Given the description of an element on the screen output the (x, y) to click on. 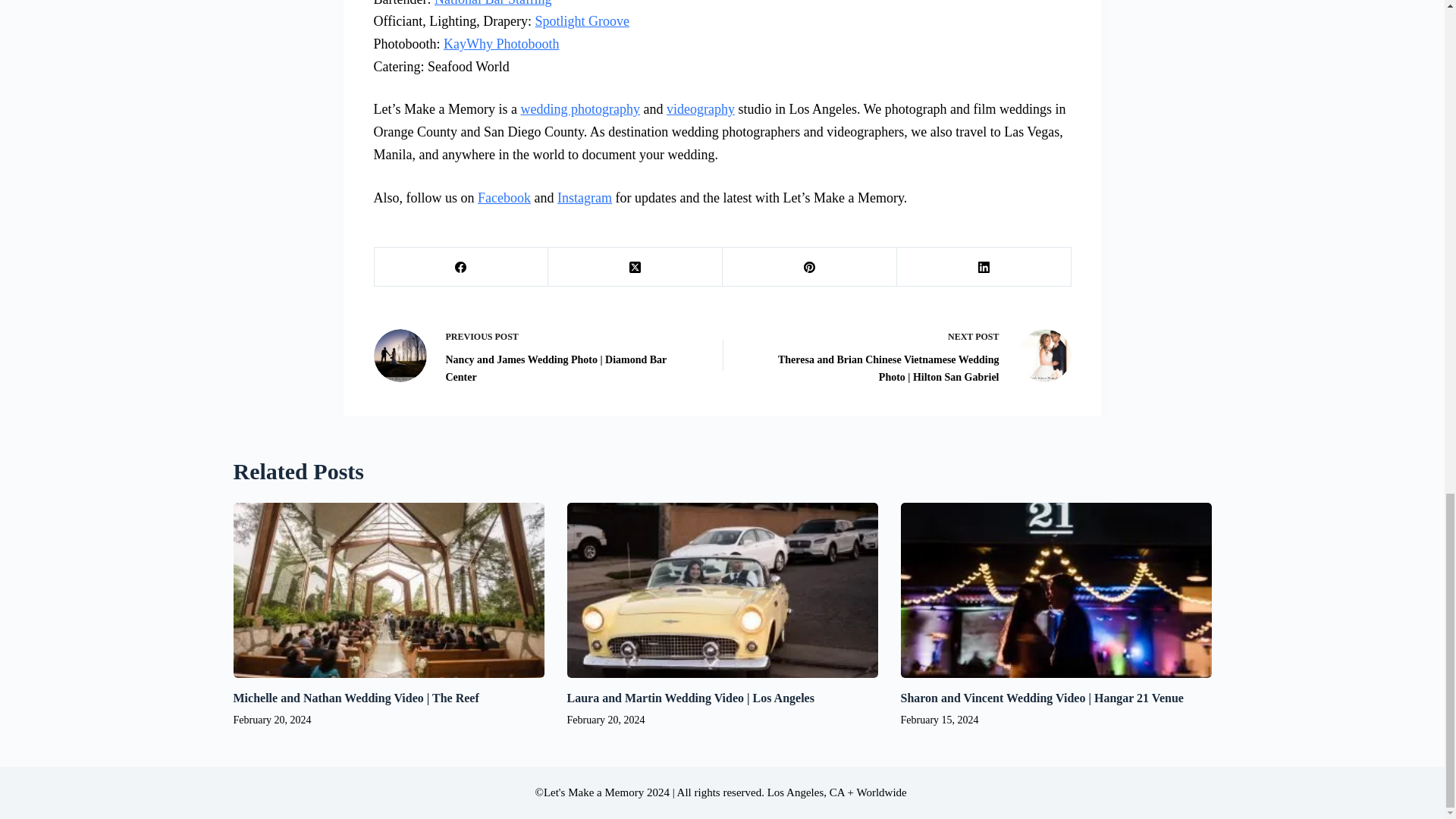
National Bar Staffing (492, 3)
wedding photography (579, 109)
Spotlight Groove (582, 20)
Facebook (504, 197)
videography (700, 109)
KayWhy Photobooth (501, 43)
Instagram (584, 197)
